Given the description of an element on the screen output the (x, y) to click on. 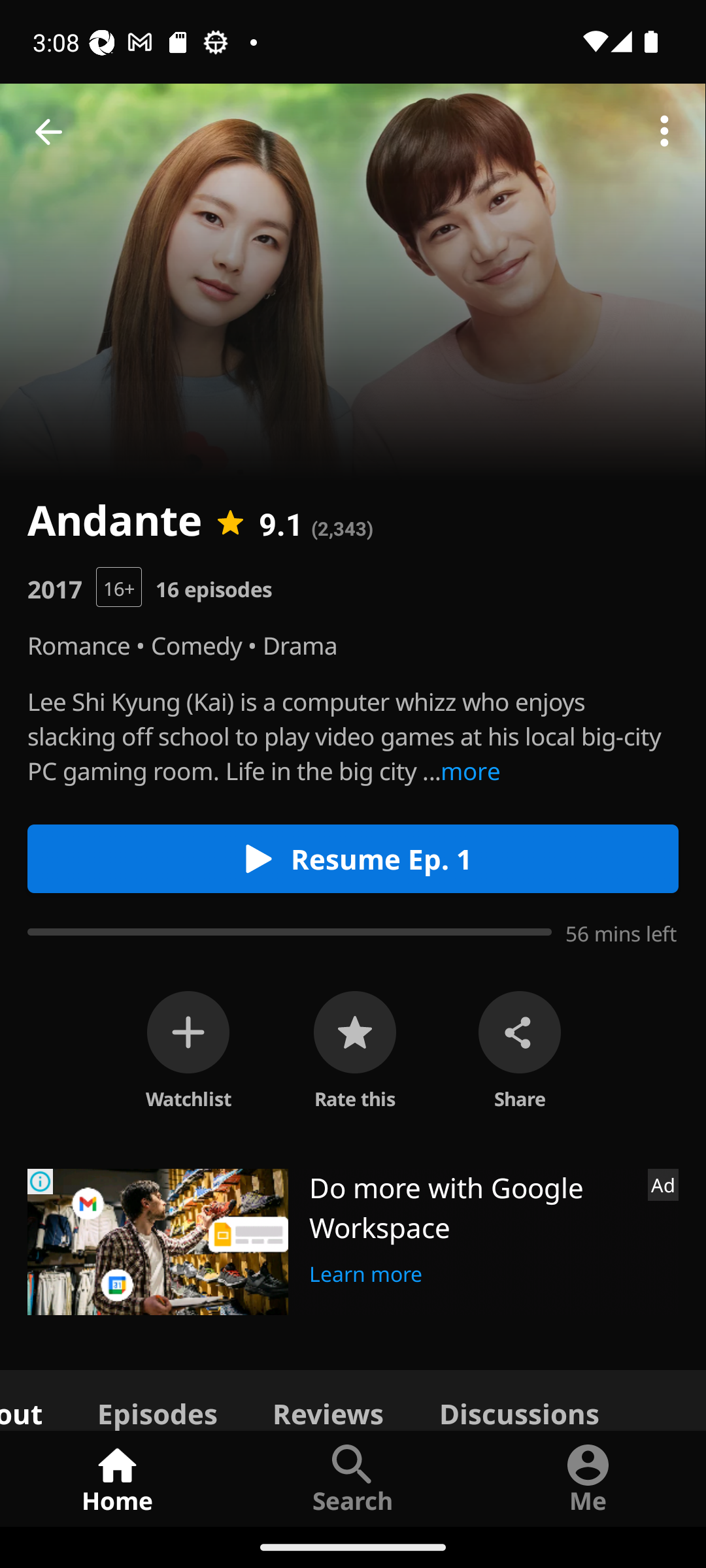
More (664, 131)
off (187, 1032)
Ad Choices Icon (39, 1181)
Do more with Google Workspace (471, 1207)
Learn more (365, 1271)
Episodes (156, 1400)
Reviews (327, 1400)
Discussions (518, 1400)
Search (352, 1478)
Me (588, 1478)
